Given the description of an element on the screen output the (x, y) to click on. 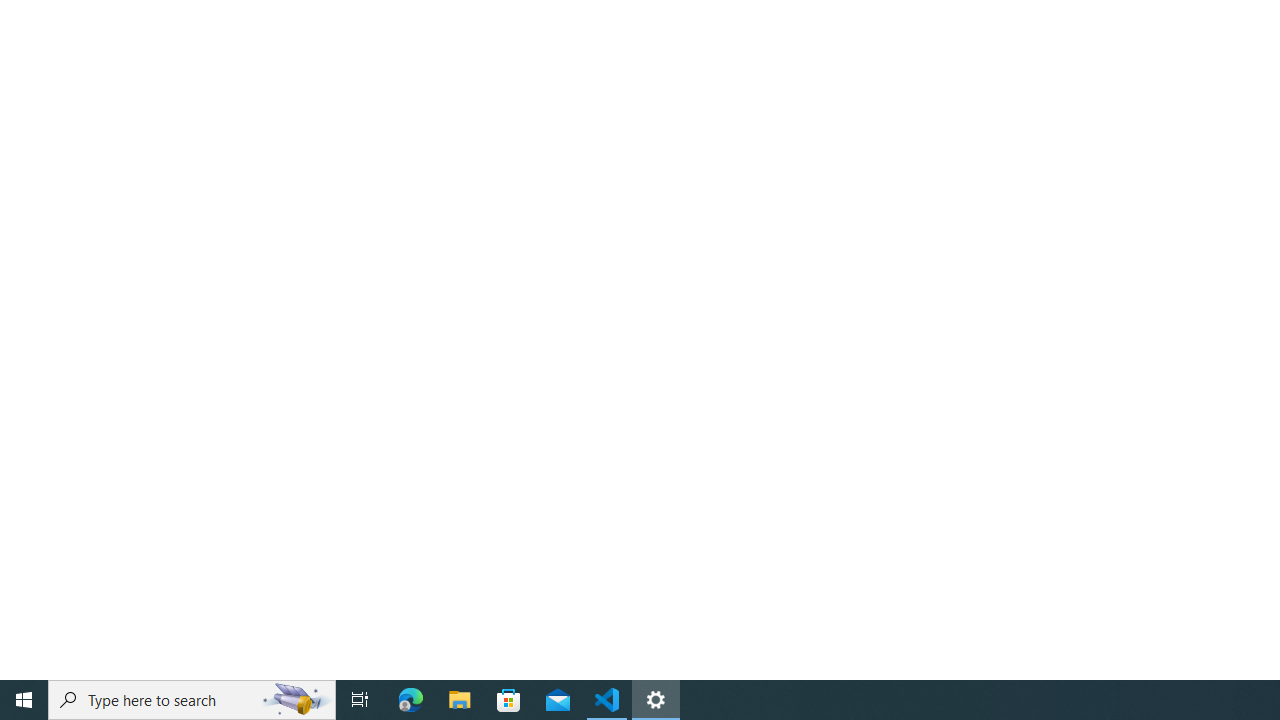
Type here to search (191, 699)
Settings - 1 running window (656, 699)
Microsoft Store (509, 699)
Search highlights icon opens search home window (295, 699)
Microsoft Edge (411, 699)
Start (24, 699)
File Explorer (460, 699)
Visual Studio Code - 1 running window (607, 699)
Task View (359, 699)
